Given the description of an element on the screen output the (x, y) to click on. 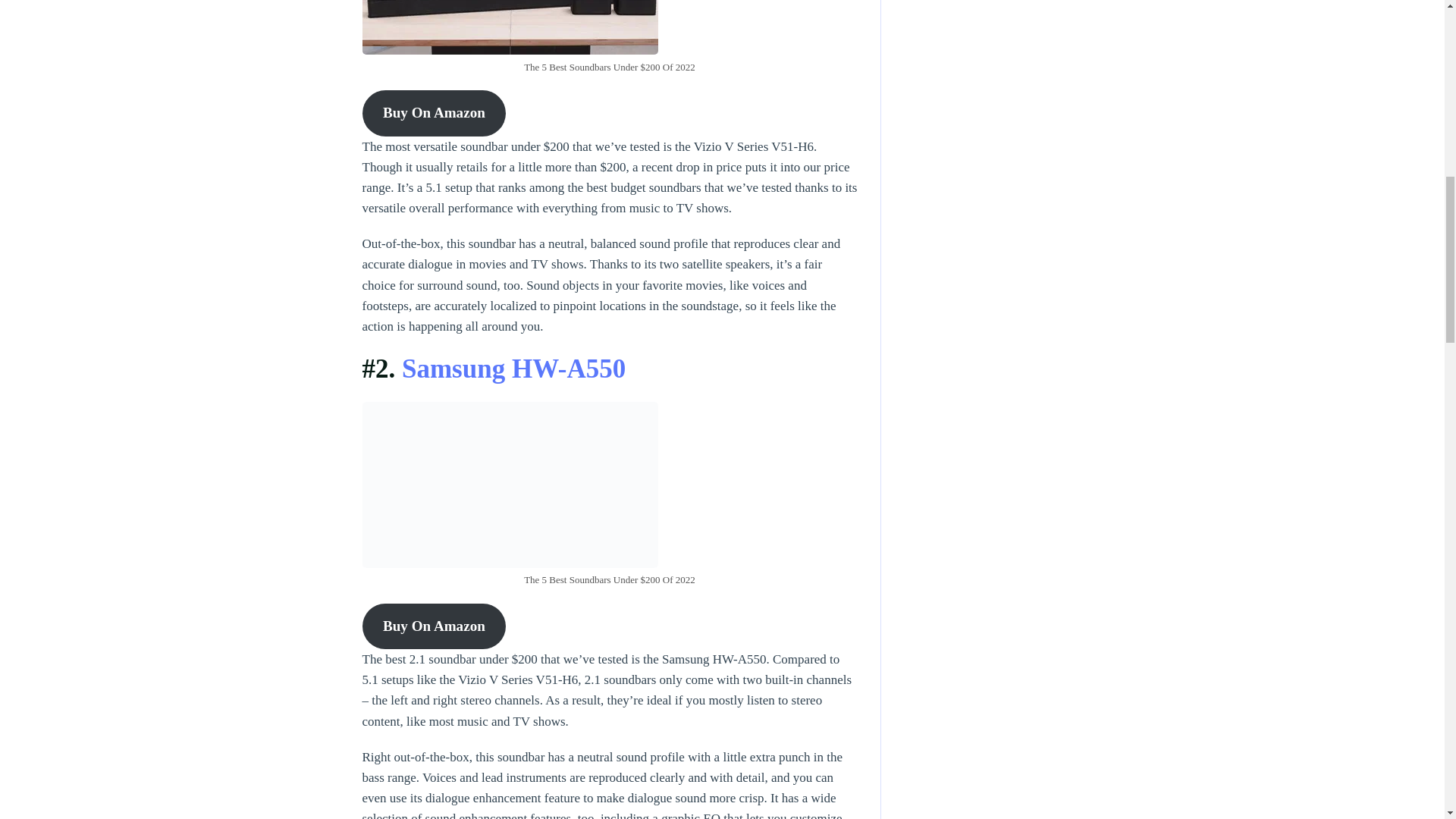
Buy On Amazon (434, 626)
Samsung HW-A550 (513, 368)
Buy On Amazon (434, 112)
